Given the description of an element on the screen output the (x, y) to click on. 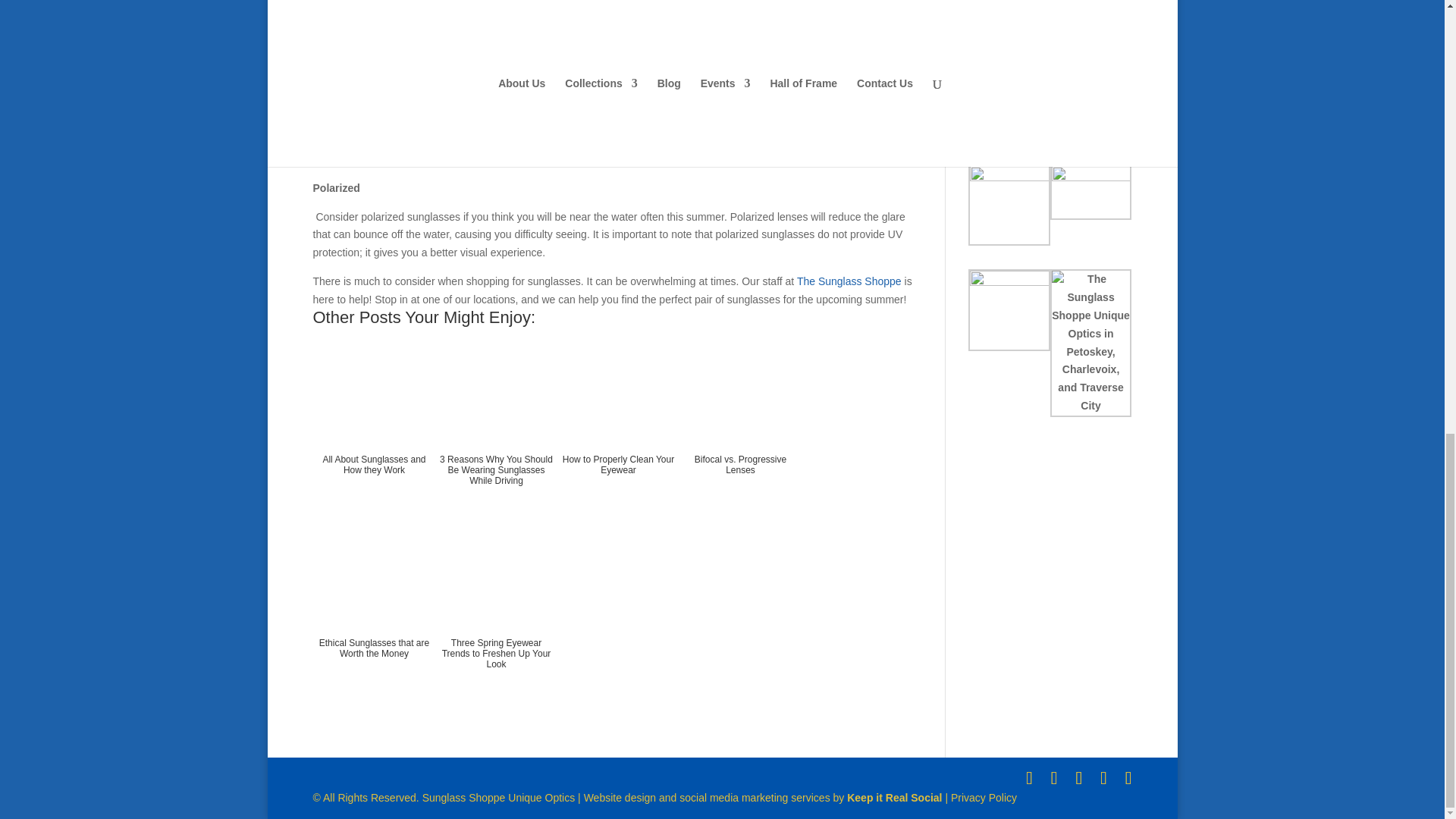
The Sunglass Shoppe (848, 281)
lenses (457, 65)
Keep it Real Social (894, 797)
